Given the description of an element on the screen output the (x, y) to click on. 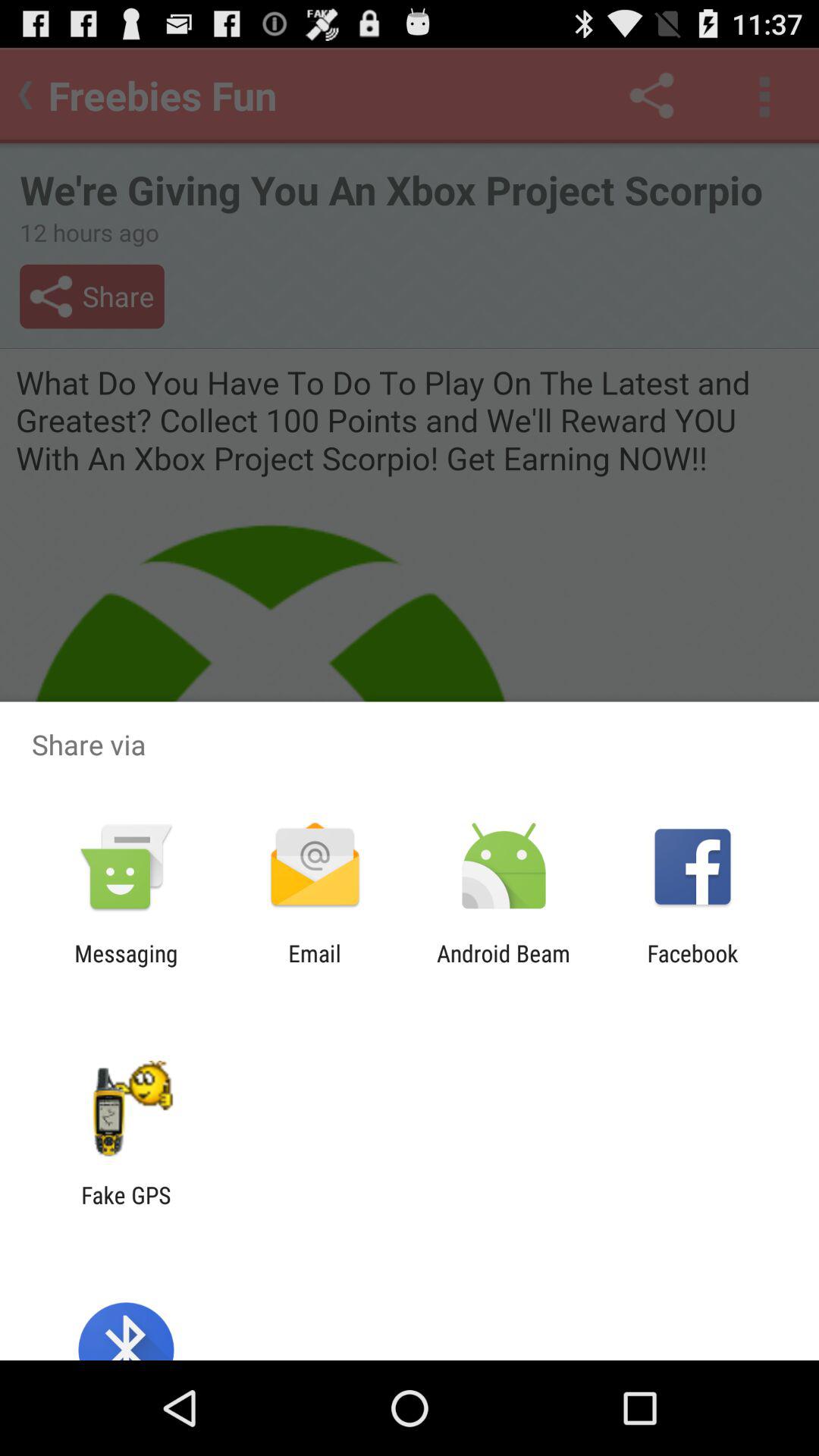
select the item to the left of android beam app (314, 966)
